Given the description of an element on the screen output the (x, y) to click on. 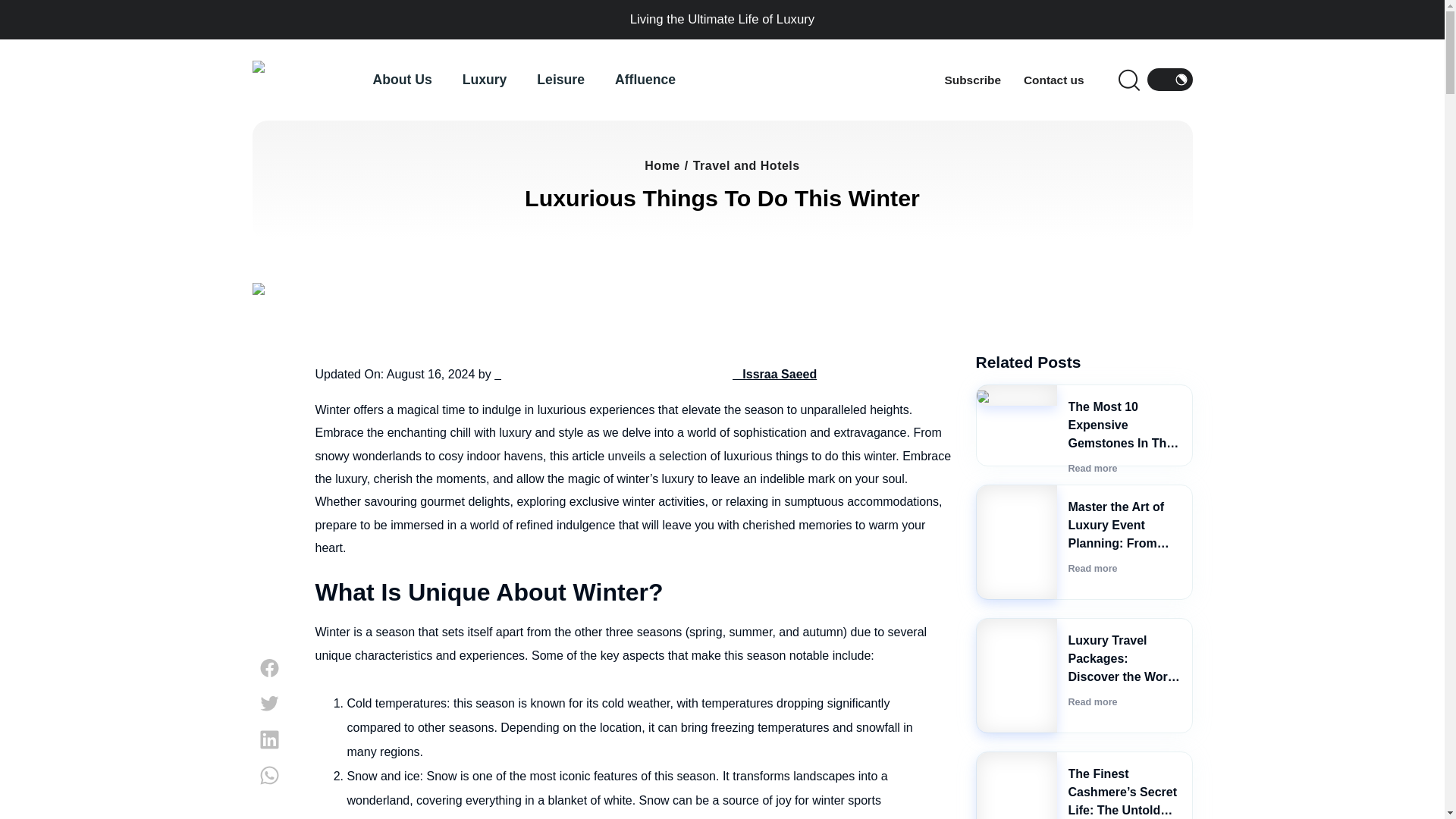
Travel and Hotels (746, 164)
About Us (417, 79)
Home (662, 164)
Leisure (575, 79)
The Most 10 Expensive Gemstones In The World (1122, 433)
Luxury (500, 79)
Affluence (644, 79)
    Issraa Saeed (655, 373)
Contact us (1053, 79)
